Given the description of an element on the screen output the (x, y) to click on. 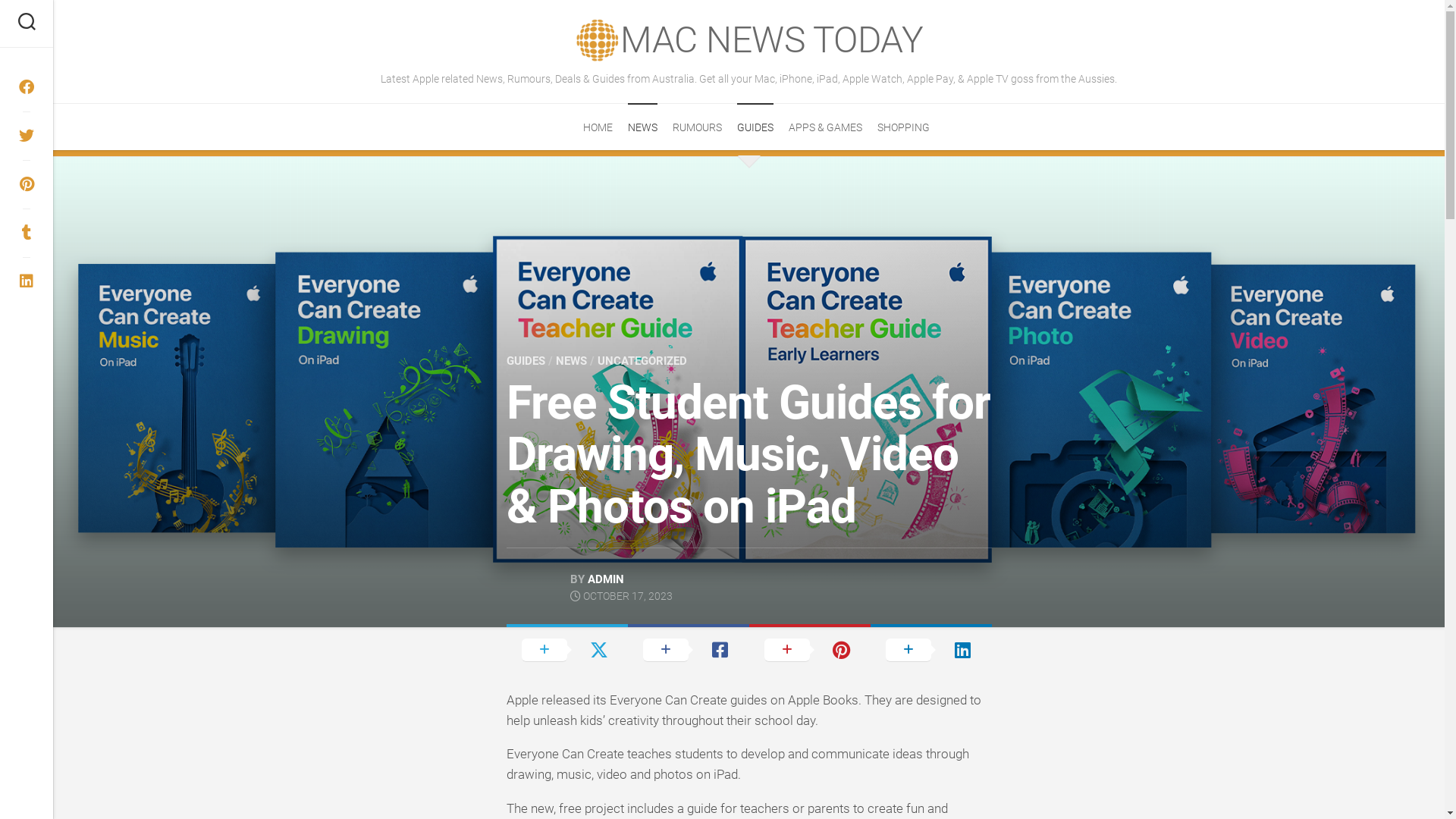
GUIDES Element type: text (755, 126)
Share on Facebook Element type: hover (688, 649)
Share on Pinterest Element type: hover (809, 649)
Pinterest Element type: hover (26, 184)
UNCATEGORIZED Element type: text (642, 360)
Linkedlin Element type: hover (26, 281)
Twitter Element type: hover (26, 135)
Share on X Element type: hover (566, 649)
ADMIN Element type: text (604, 579)
HOME Element type: text (597, 126)
GUIDES Element type: text (525, 360)
APPS & GAMES Element type: text (825, 126)
Share on LinkedIn Element type: hover (930, 649)
NEWS Element type: text (570, 360)
Facebook Element type: hover (26, 86)
SHOPPING Element type: text (903, 126)
MAC NEWS TODAY Element type: text (771, 39)
NEWS Element type: text (642, 126)
RUMOURS Element type: text (696, 126)
Tumblr Element type: hover (26, 232)
